Given the description of an element on the screen output the (x, y) to click on. 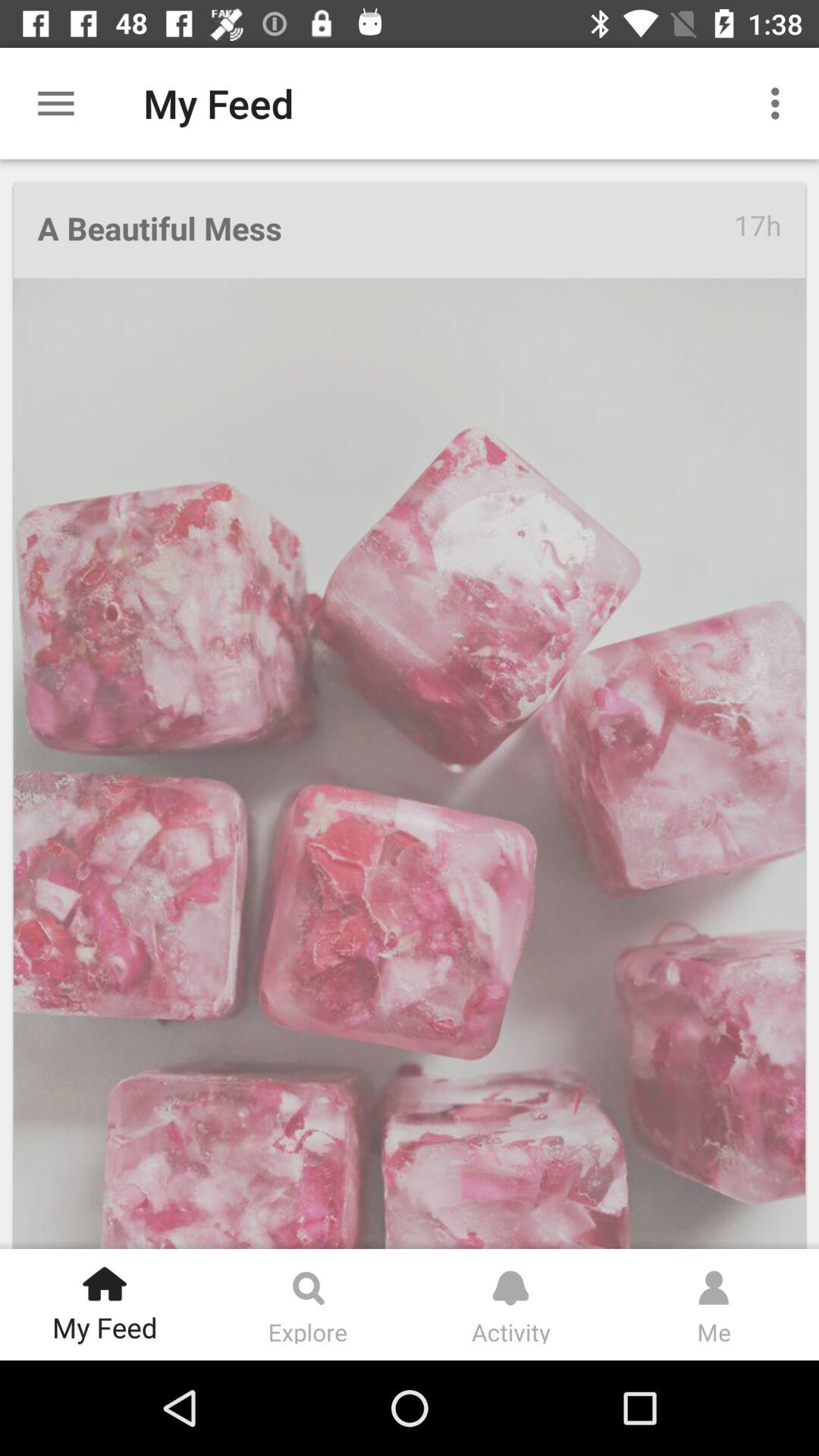
press a beautiful mess icon (385, 230)
